Given the description of an element on the screen output the (x, y) to click on. 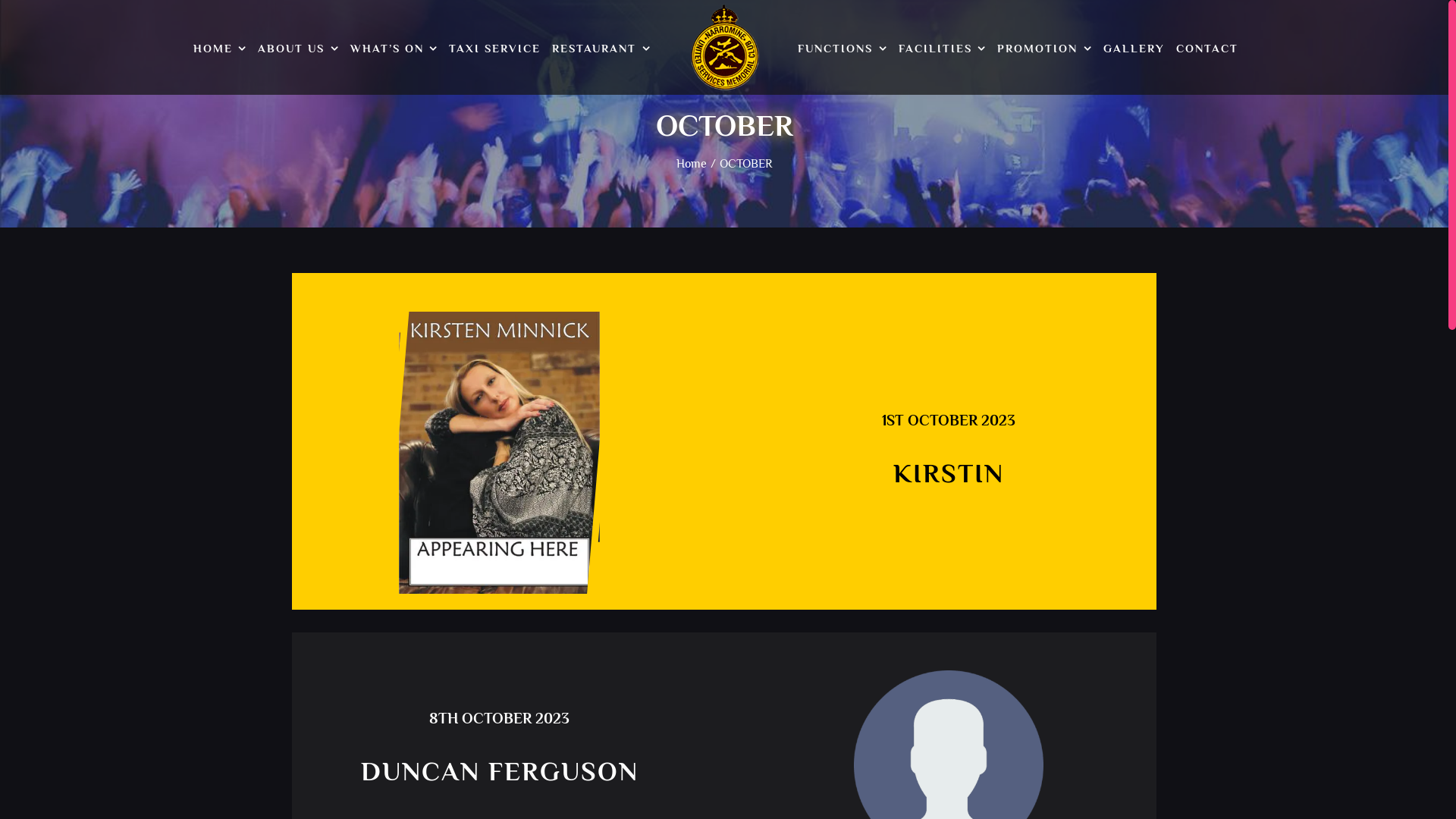
GALLERY Element type: text (1133, 49)
FUNCTIONS Element type: text (842, 49)
FACILITIES Element type: text (942, 49)
RESTAURANT Element type: text (601, 49)
ABOUT US Element type: text (297, 49)
HOME Element type: text (220, 49)
CONTACT Element type: text (1207, 49)
TAXI SERVICE Element type: text (494, 49)
Kirsten A4 Print_page-0001-min Element type: hover (498, 452)
PROMOTION Element type: text (1044, 49)
Home Element type: text (691, 163)
